Given the description of an element on the screen output the (x, y) to click on. 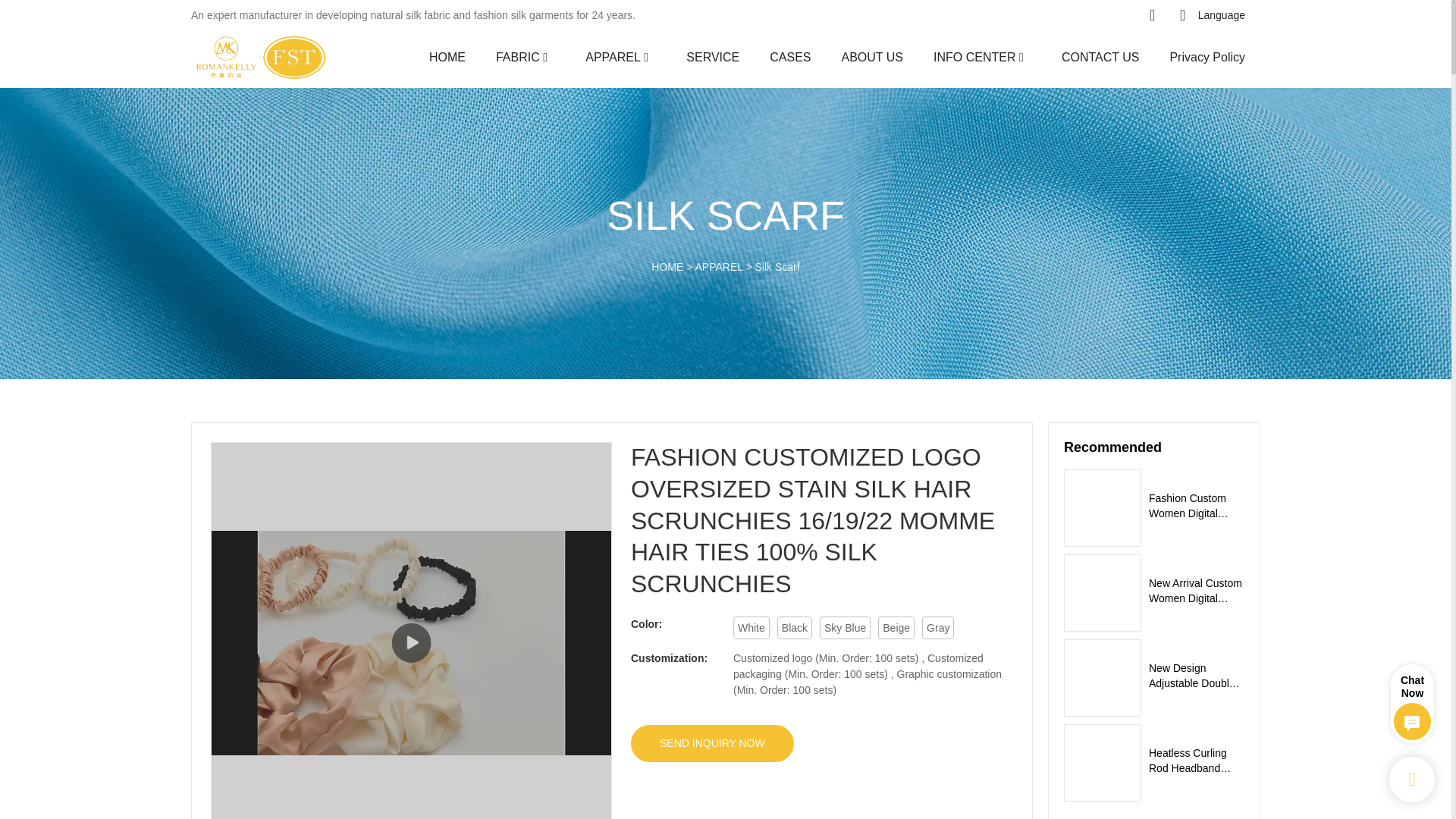
FABRIC (518, 56)
Beige (895, 627)
HOME (447, 56)
White (751, 627)
Black (794, 627)
Gray (937, 627)
Sky Blue (844, 627)
